Given the description of an element on the screen output the (x, y) to click on. 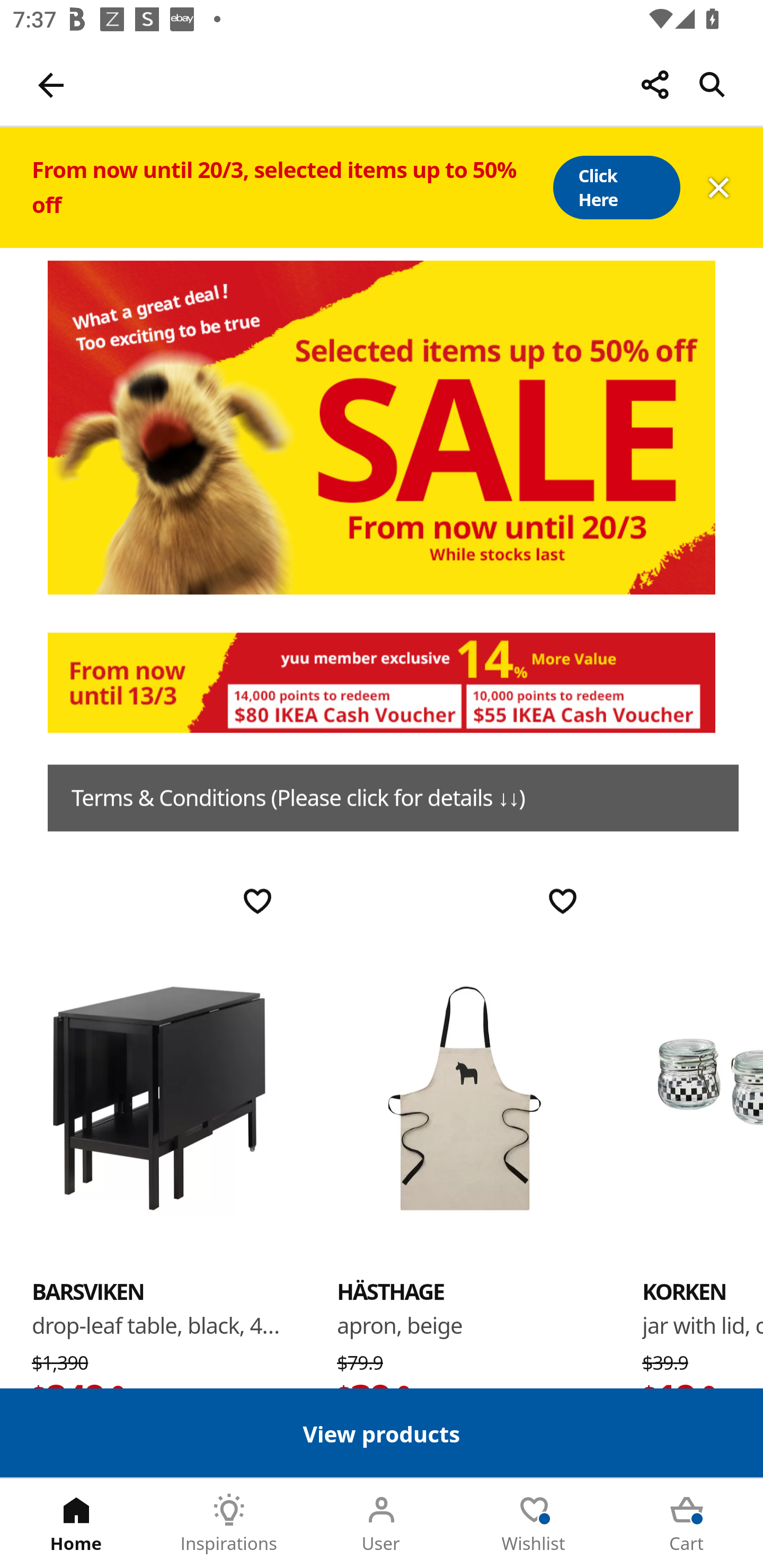
Click Here (615, 187)
Terms & Conditions (Please click for details ↓↓) (393, 798)
BARSVIKEN (159, 1096)
HÄSTHAGE (464, 1096)
KORKEN (702, 1096)
BARSVIKEN (88, 1290)
HÄSTHAGE (390, 1290)
KORKEN (684, 1290)
View products (381, 1432)
Home
Tab 1 of 5 (76, 1522)
Inspirations
Tab 2 of 5 (228, 1522)
User
Tab 3 of 5 (381, 1522)
Wishlist
Tab 4 of 5 (533, 1522)
Cart
Tab 5 of 5 (686, 1522)
